Given the description of an element on the screen output the (x, y) to click on. 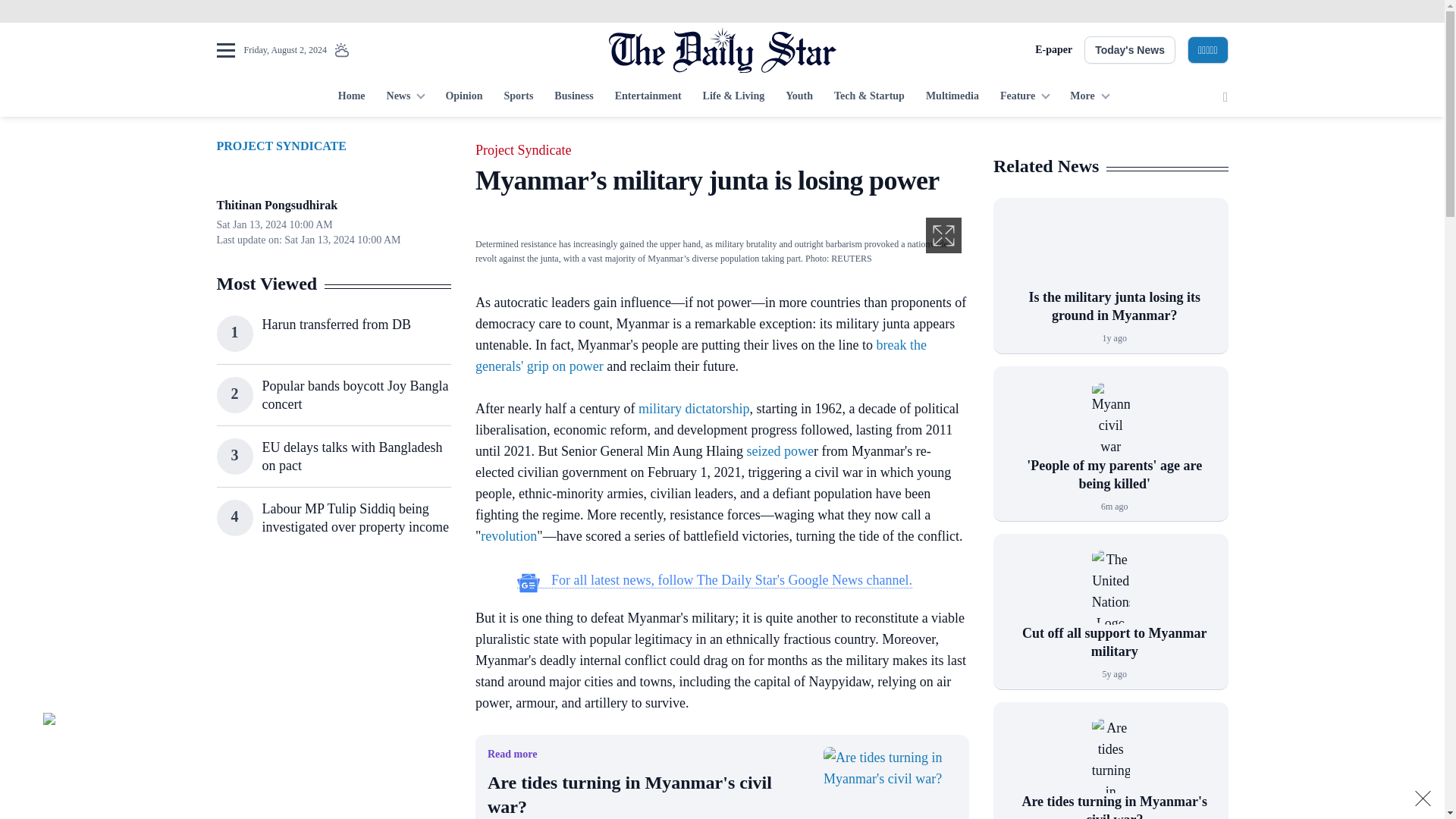
Youth (799, 96)
Multimedia (952, 96)
News (405, 96)
Today's News (1129, 49)
Sports (518, 96)
The United Nations Logo (1110, 586)
Business (573, 96)
Opinion (463, 96)
Feature (1024, 96)
